Given the description of an element on the screen output the (x, y) to click on. 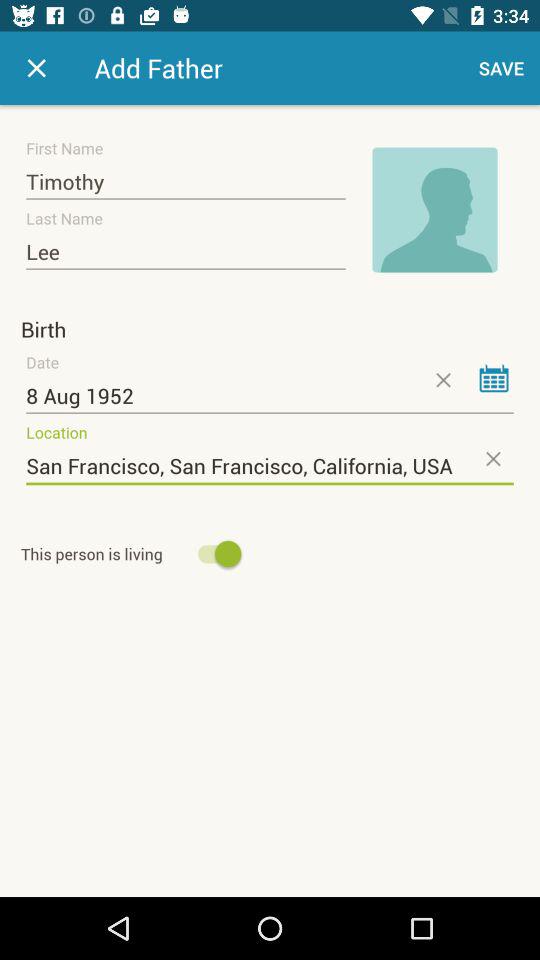
scroll to the san francisco san (270, 466)
